Given the description of an element on the screen output the (x, y) to click on. 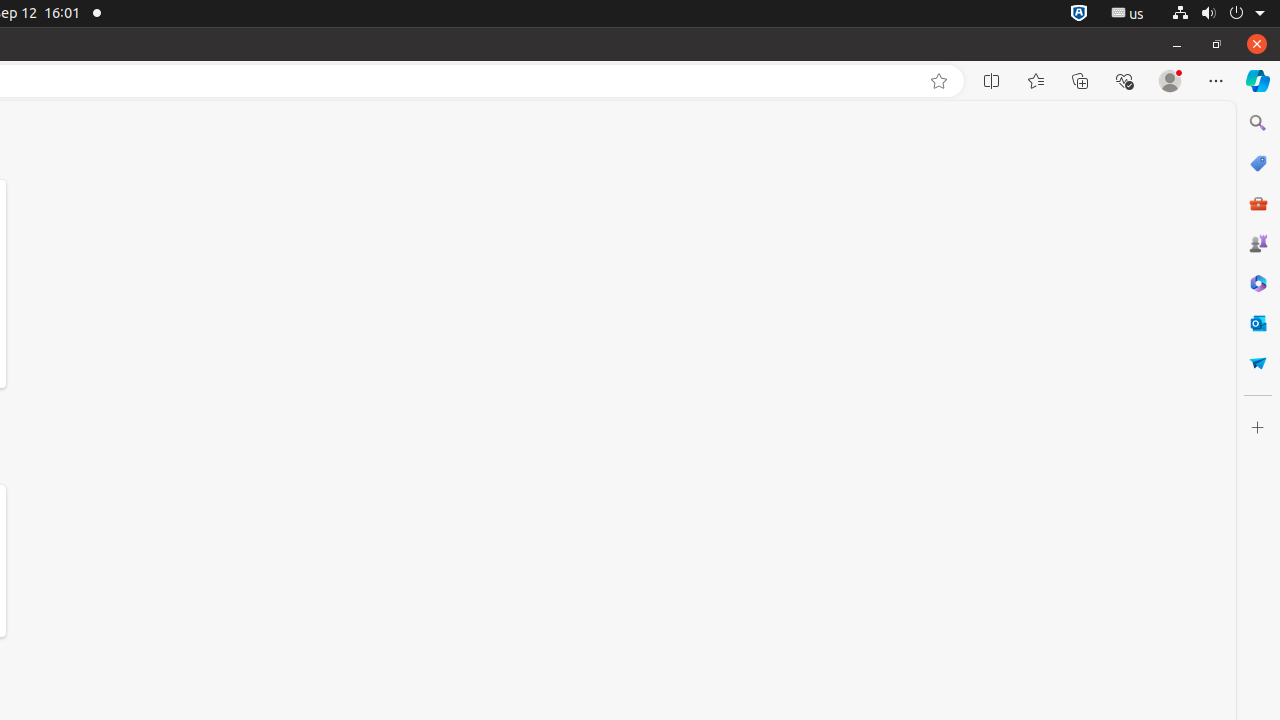
Drop Element type: push-button (1258, 363)
Search Element type: push-button (1258, 123)
Outlook Element type: push-button (1258, 323)
Favorites Element type: push-button (1036, 81)
Add this page to favorites (Ctrl+D) Element type: push-button (939, 81)
